Given the description of an element on the screen output the (x, y) to click on. 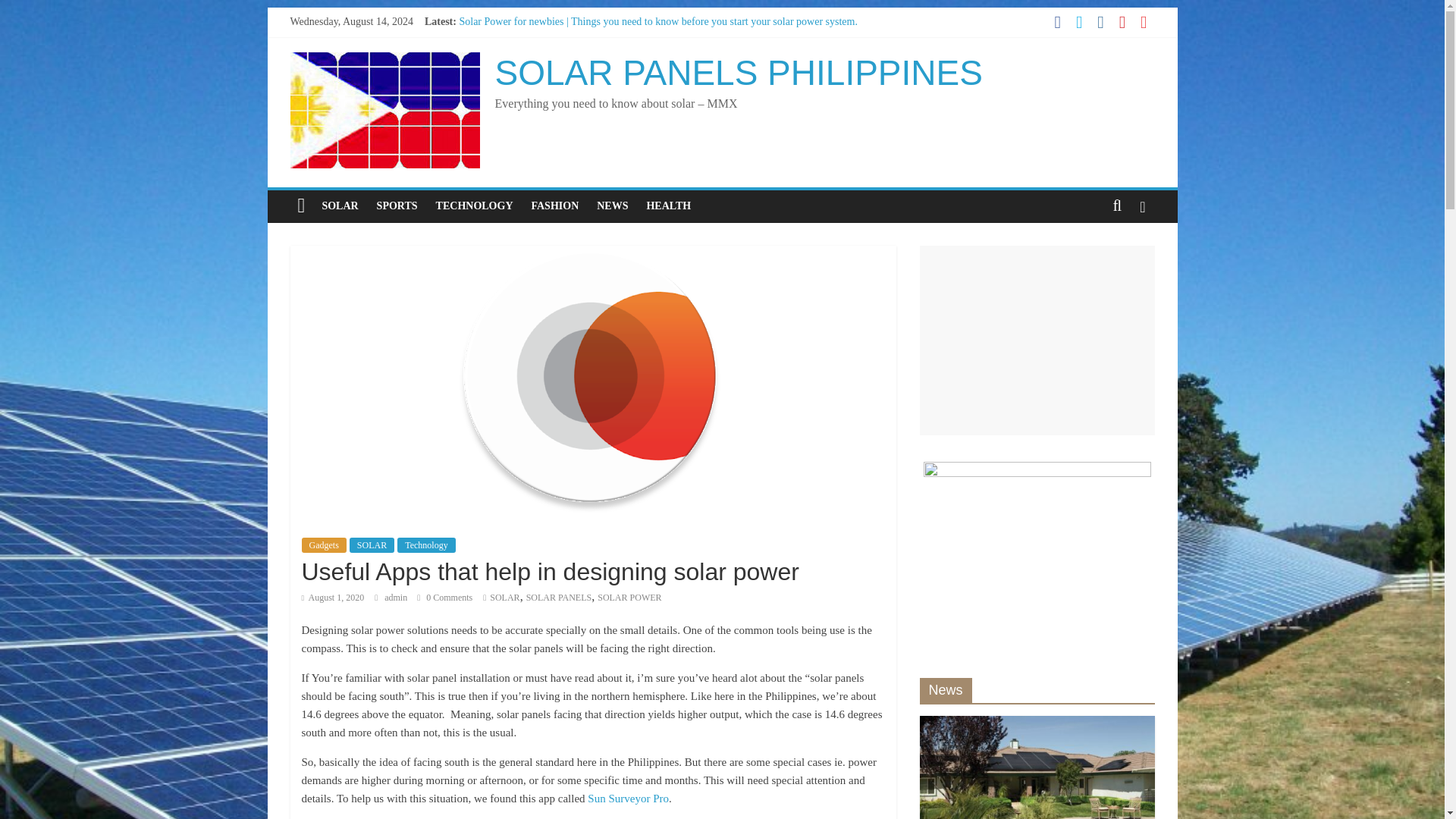
Sun Surveyor Pro (628, 798)
COVID-19 PH Stats for the day (526, 55)
PH COVID CASES SURPASS 103,000 (543, 38)
NEWS (612, 205)
SOLAR PANELS (558, 597)
0 Comments (443, 597)
admin (396, 597)
Technology (425, 544)
Useful Apps that help in designing solar power (558, 89)
TECHNOLOGY (474, 205)
